Given the description of an element on the screen output the (x, y) to click on. 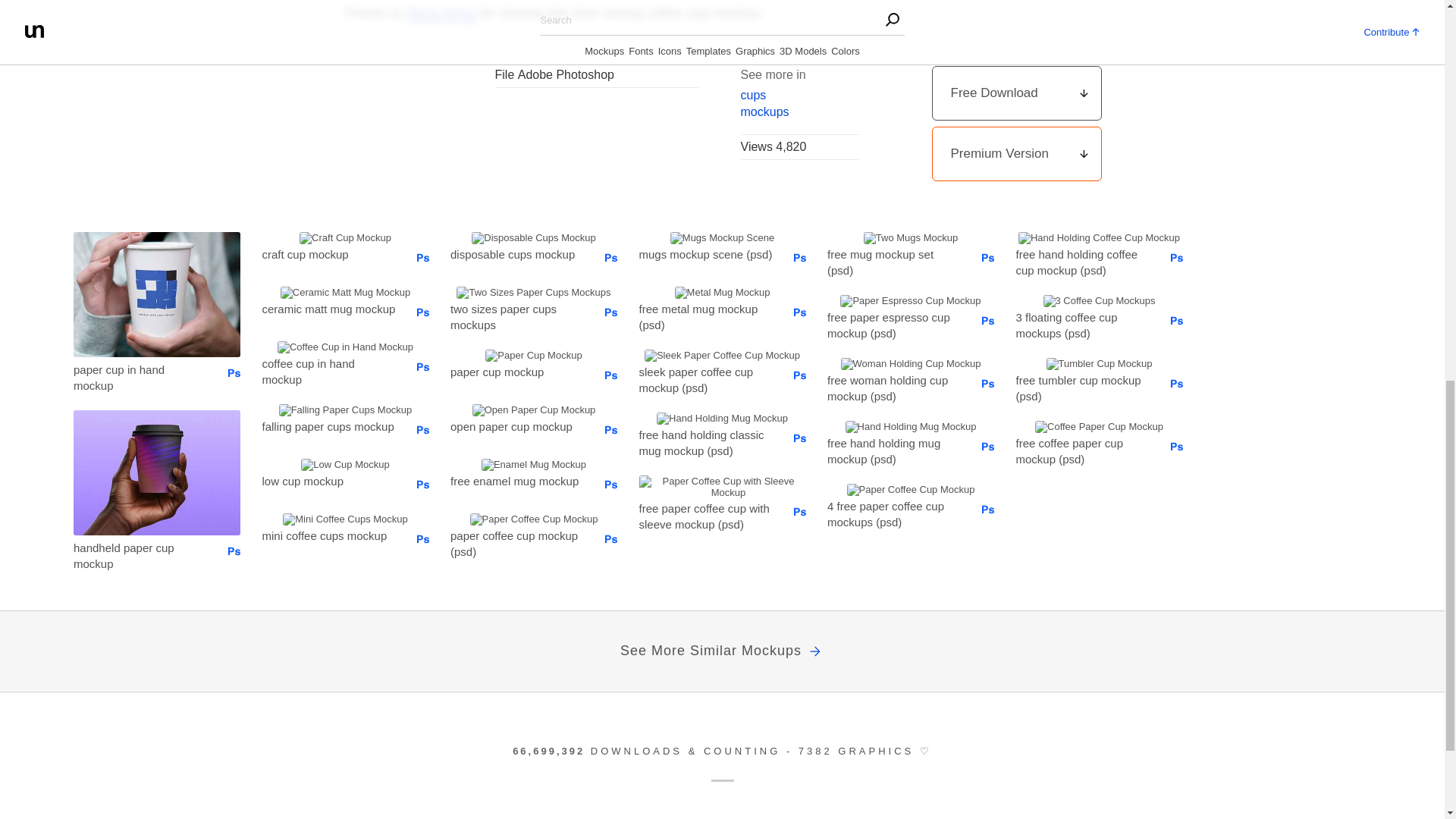
Reza Azmy (441, 12)
craft cup mockup (329, 253)
cups (799, 94)
mockups (799, 111)
handheld paper cup mockup (140, 554)
Free Download (1015, 92)
low cup mockup (329, 479)
paper cup mockup (516, 370)
falling paper cups mockup (329, 424)
disposable cups mockup (516, 253)
coffee cup in hand mockup (329, 370)
two sizes paper cups mockups (516, 316)
mini coffee cups mockup (329, 534)
open paper cup mockup (516, 424)
paper cup in hand mockup (140, 376)
